Given the description of an element on the screen output the (x, y) to click on. 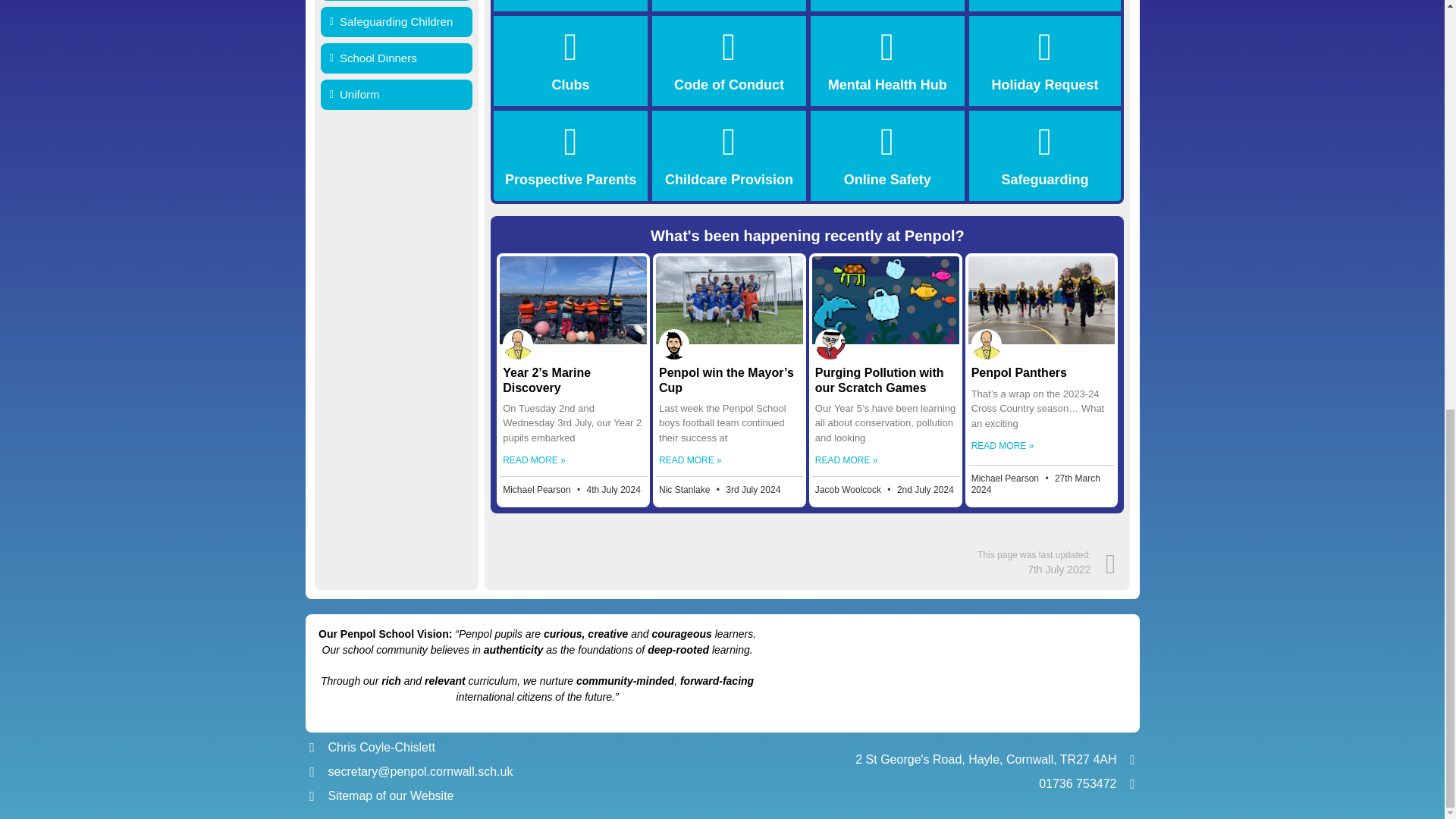
Penpol School (948, 672)
